Given the description of an element on the screen output the (x, y) to click on. 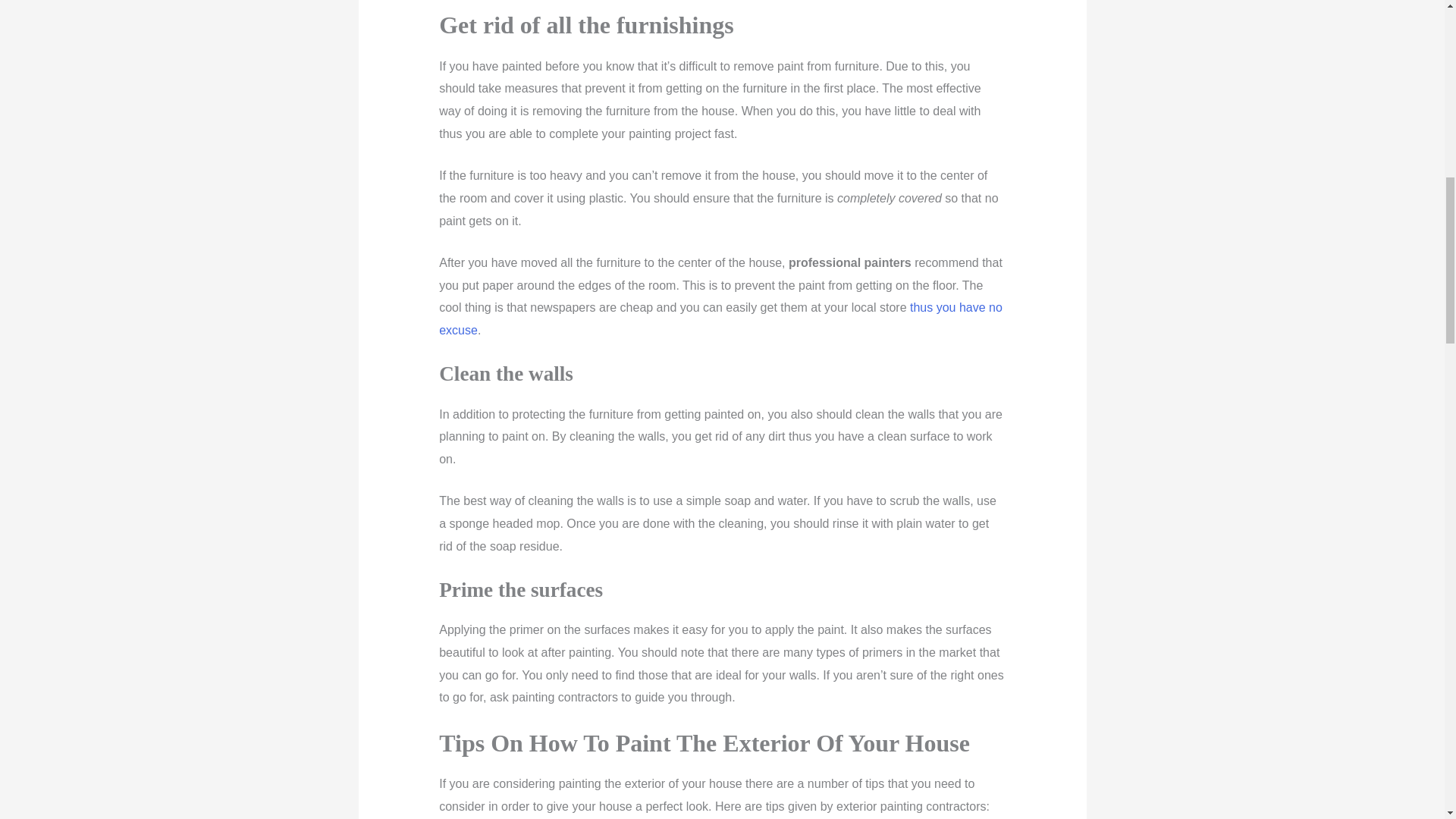
 thus you have no excuse (721, 318)
